Given the description of an element on the screen output the (x, y) to click on. 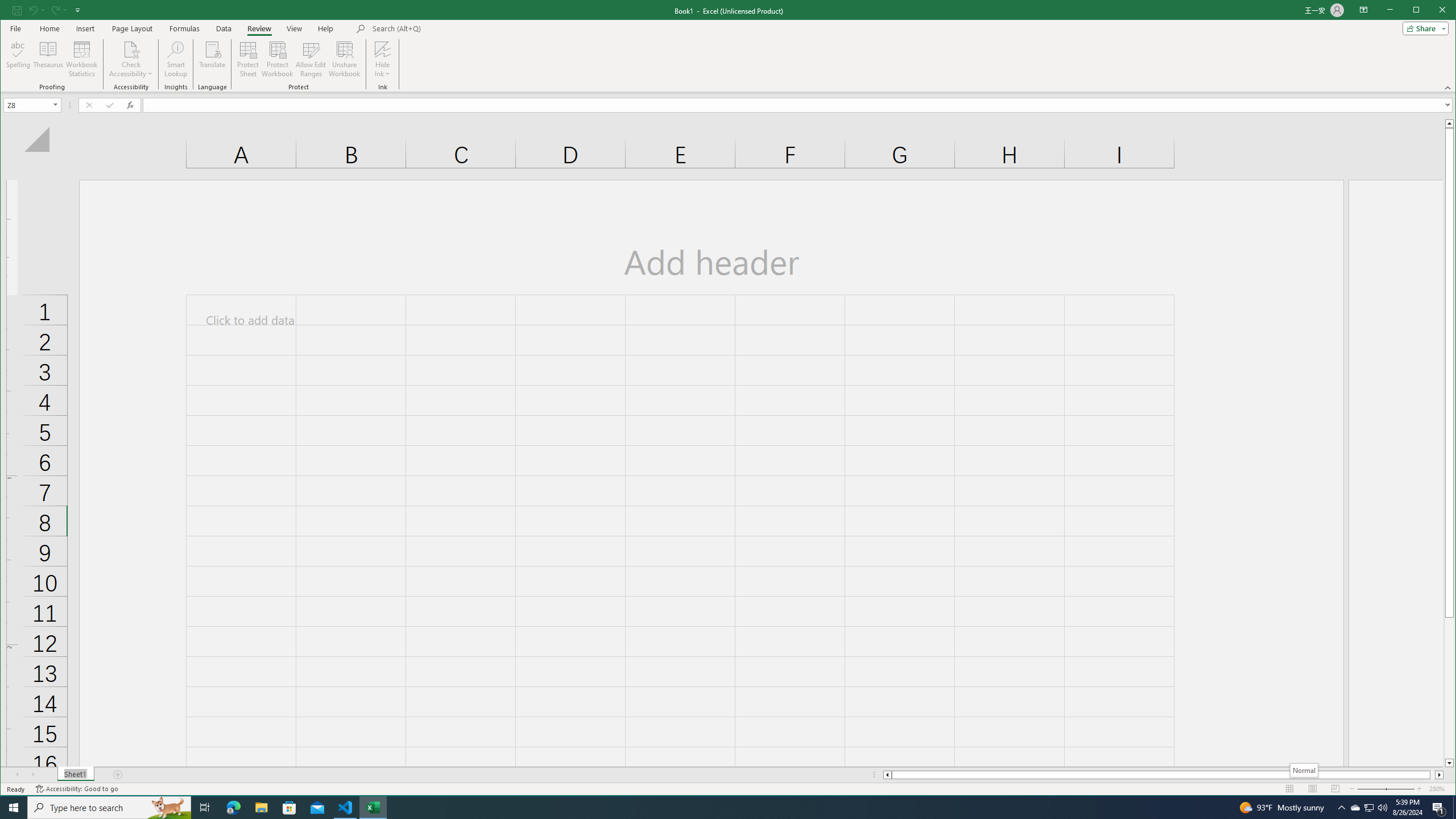
Customize Quick Access Toolbar (77, 9)
Insert (85, 28)
User Promoted Notification Area (1368, 807)
Unshare Workbook (344, 59)
Scroll Right (34, 774)
Check Accessibility (130, 48)
Excel - 1 running window (373, 807)
View (1355, 807)
Visual Studio Code - 1 running window (294, 28)
Column right (345, 807)
Save (1439, 774)
